Given the description of an element on the screen output the (x, y) to click on. 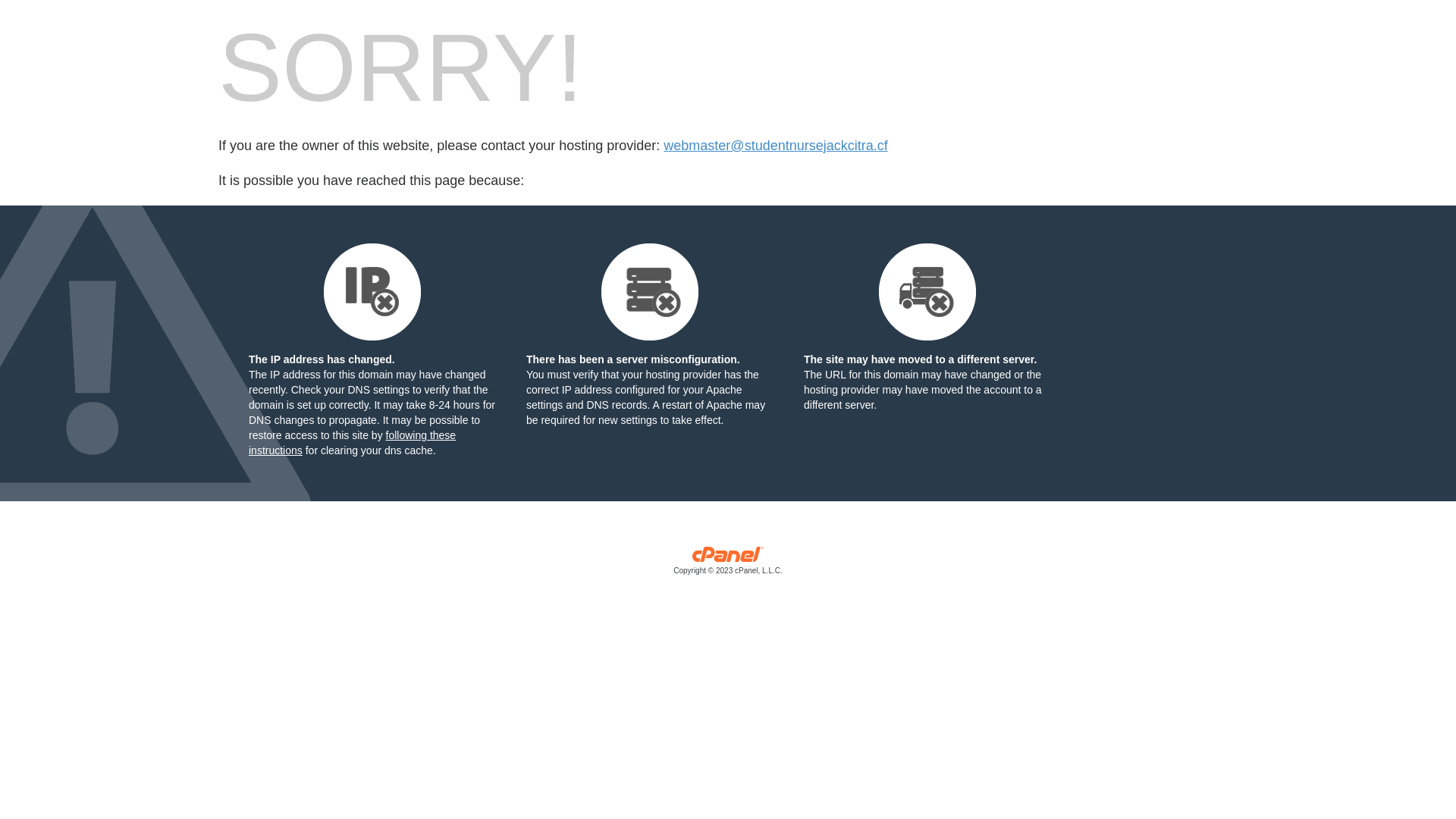
following these instructions Element type: text (351, 442)
webmaster@studentnursejackcitra.cf Element type: text (775, 145)
